Given the description of an element on the screen output the (x, y) to click on. 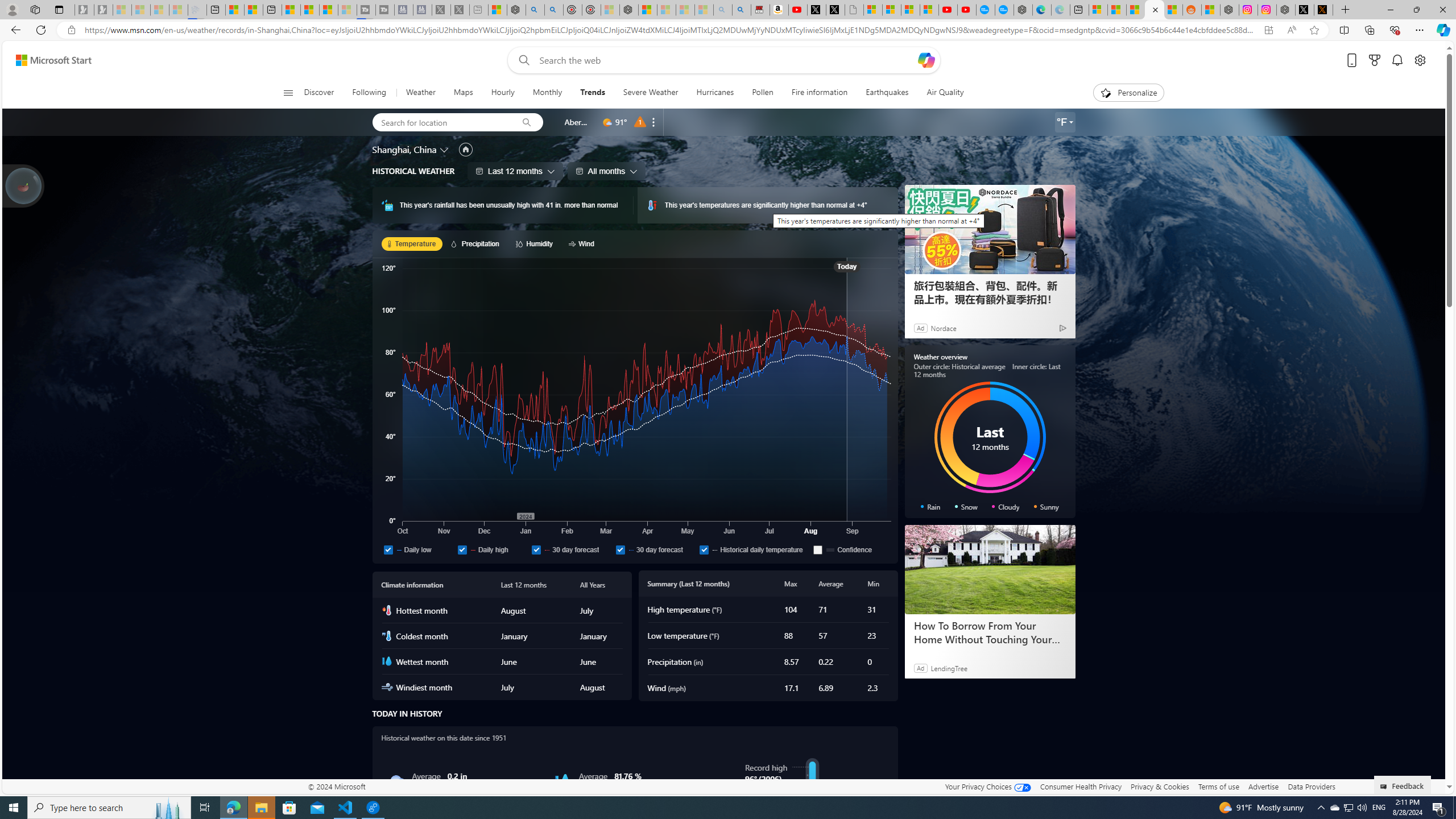
Advertise (1263, 785)
Your Privacy Choices (987, 786)
Weather settings (1064, 122)
